Given the description of an element on the screen output the (x, y) to click on. 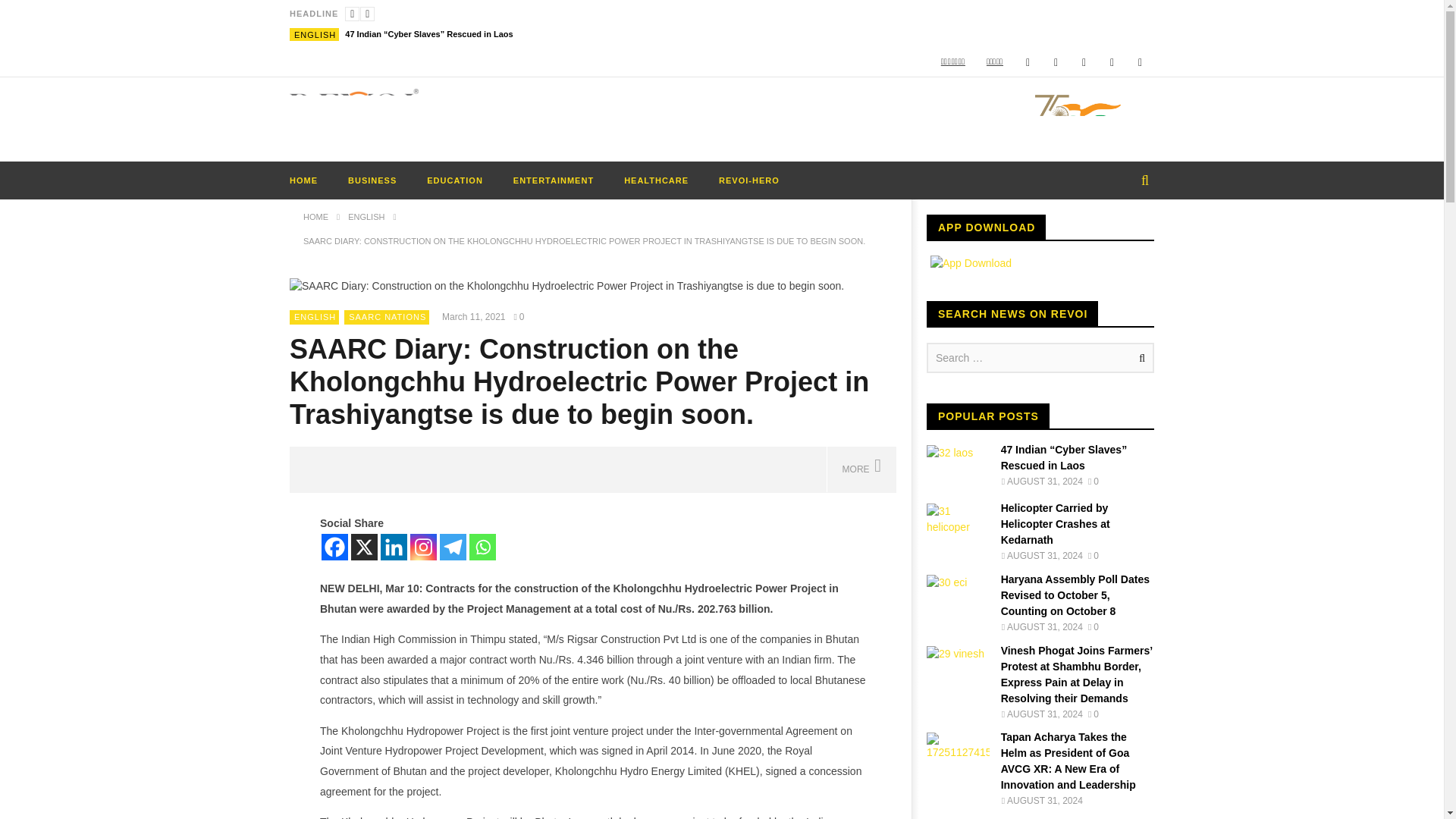
0 (521, 317)
Whatsapp (1139, 61)
HEALTHCARE (655, 180)
search (1129, 212)
Instagram (1111, 61)
March 11, 2021 (476, 317)
Search (1139, 357)
REVOI-HERO (748, 180)
Revoi.in (354, 110)
BUSINESS (372, 180)
